Given the description of an element on the screen output the (x, y) to click on. 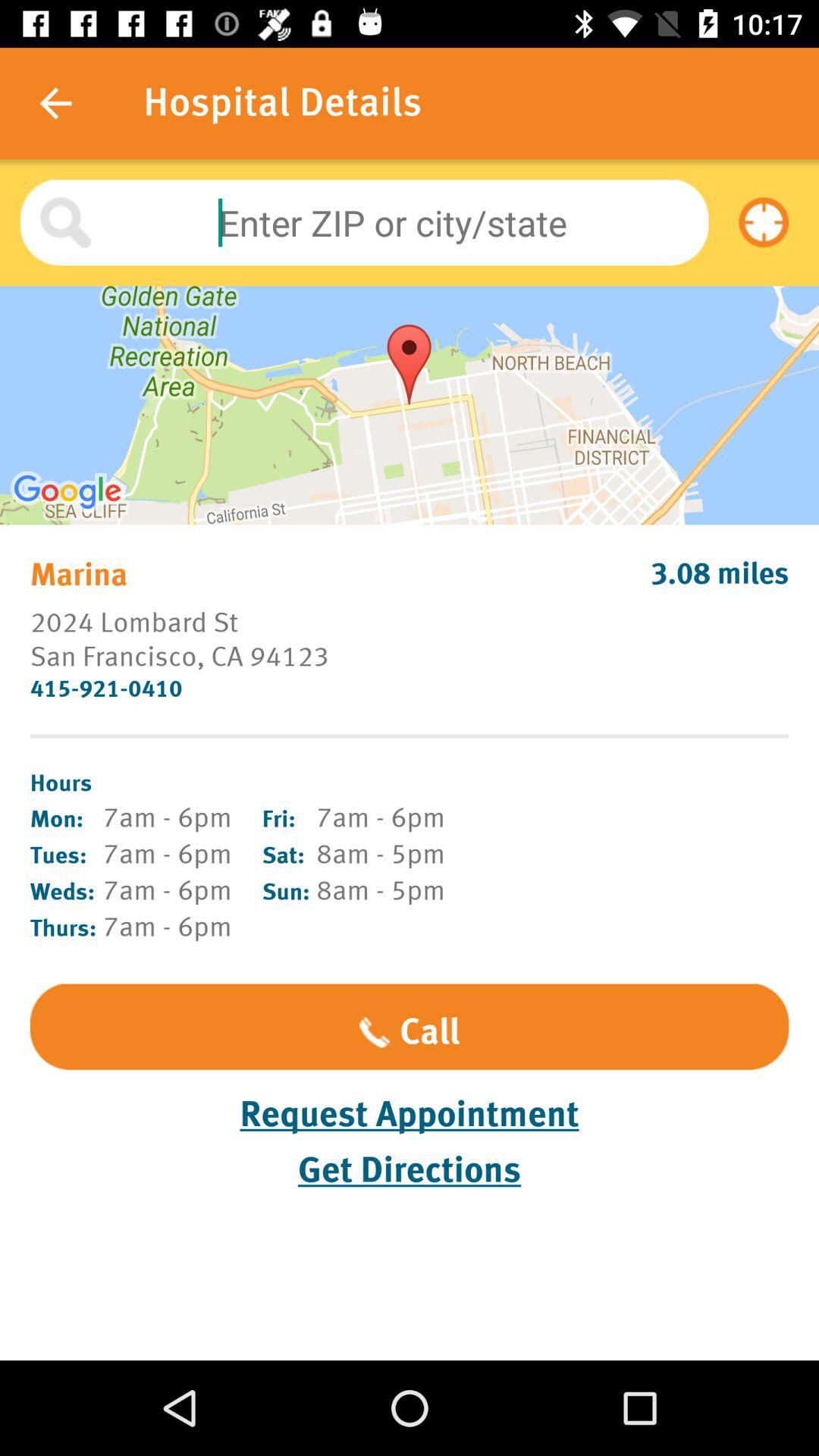
click item above get directions item (409, 1114)
